Given the description of an element on the screen output the (x, y) to click on. 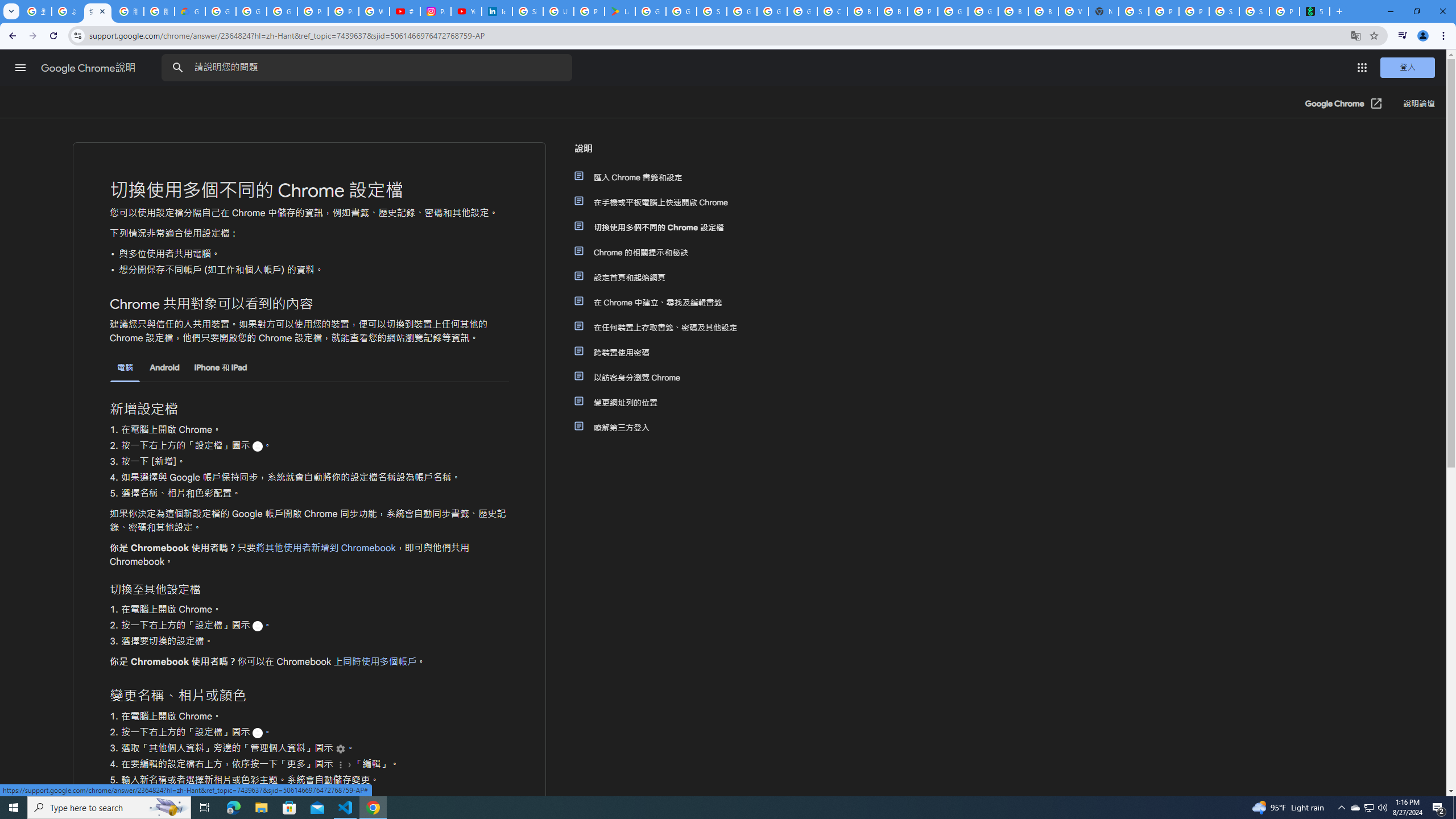
Last Shelter: Survival - Apps on Google Play (619, 11)
#nbabasketballhighlights - YouTube (404, 11)
Translate this page (1355, 35)
